Given the description of an element on the screen output the (x, y) to click on. 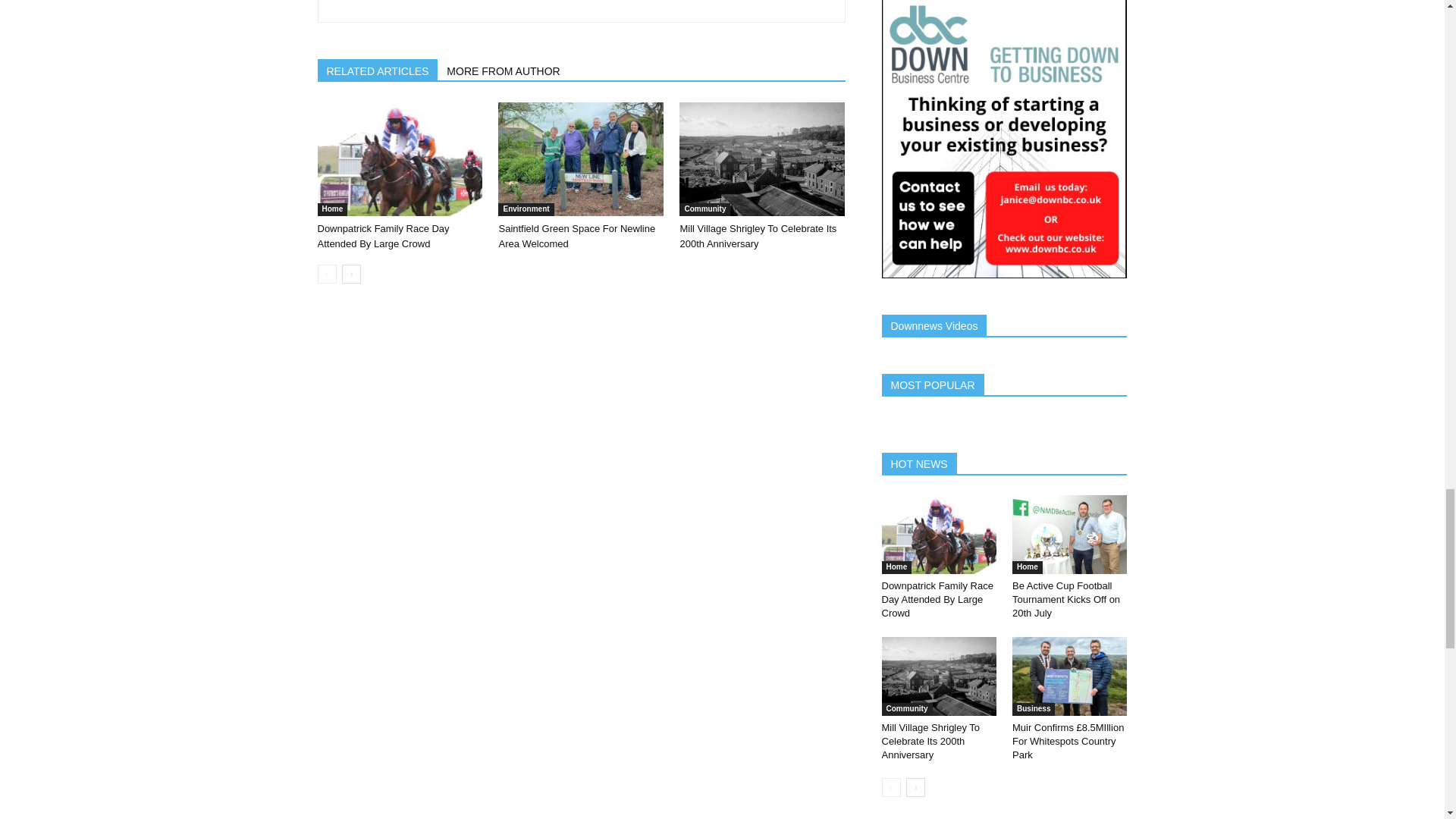
Saintfield Green Space For Newline Area Welcomed (580, 159)
Downpatrick Family Race Day Attended By Large Crowd (382, 235)
Downpatrick Family Race Day Attended By Large Crowd (399, 159)
